Given the description of an element on the screen output the (x, y) to click on. 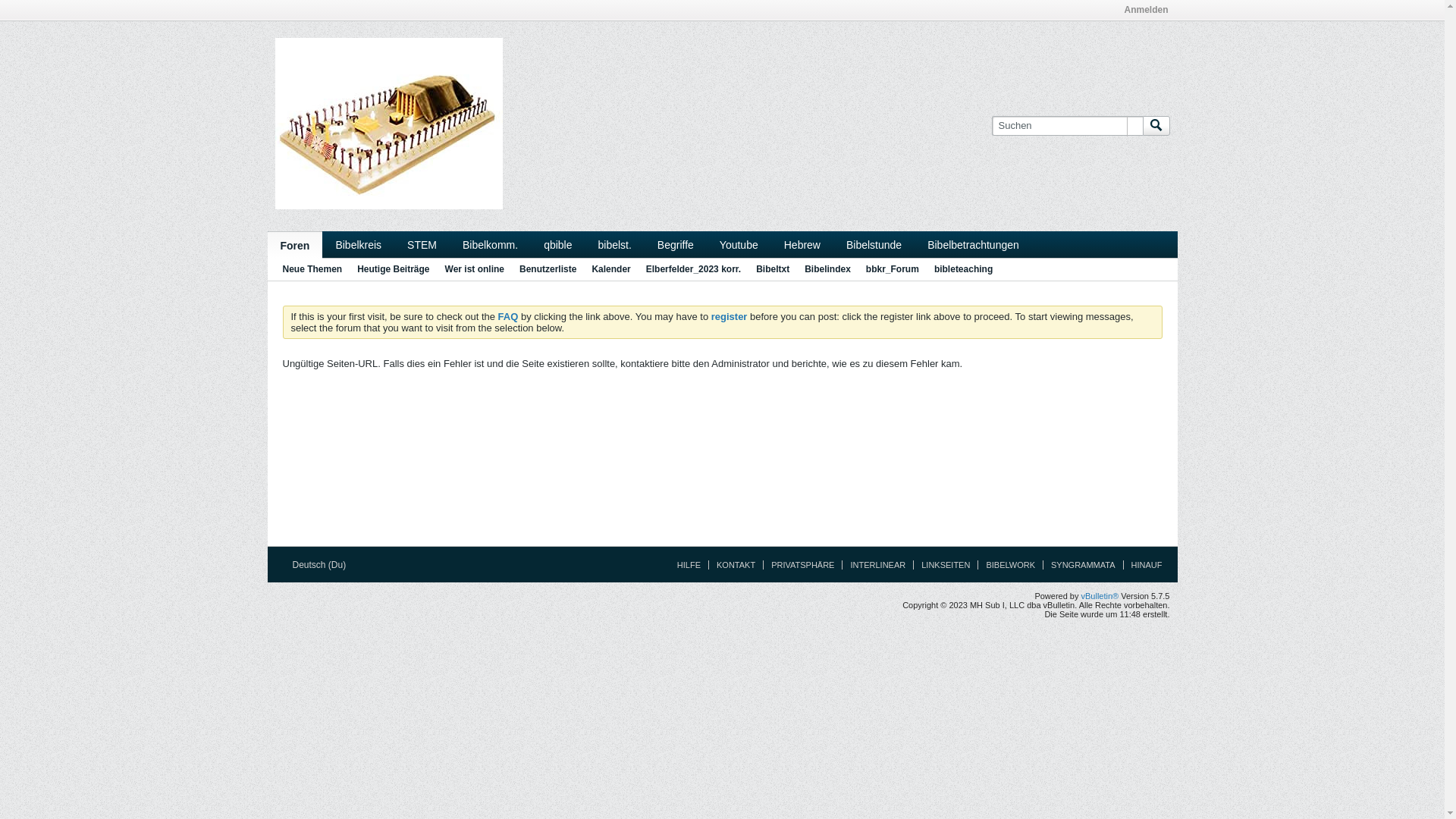
HILFE Element type: text (684, 564)
Powered by vBulletin Element type: hover (388, 123)
Bibelkomm. Element type: text (489, 244)
STEM Element type: text (421, 244)
register Element type: text (729, 316)
Begriffe Element type: text (675, 244)
Bibeltxt Element type: text (772, 269)
Wer ist online Element type: text (474, 269)
bibleteaching Element type: text (963, 269)
Foren Element type: text (294, 244)
Bibelindex Element type: text (827, 269)
Bibelbetrachtungen Element type: text (973, 244)
bibelst. Element type: text (614, 244)
Hebrew Element type: text (802, 244)
SYNGRAMMATA Element type: text (1078, 564)
Neue Themen Element type: text (312, 269)
Bibelkreis Element type: text (358, 244)
bbkr_Forum Element type: text (892, 269)
qbible Element type: text (557, 244)
INTERLINEAR Element type: text (873, 564)
Benutzerliste Element type: text (547, 269)
Bibelstunde Element type: text (873, 244)
HINAUF Element type: text (1142, 564)
LINKSEITEN Element type: text (941, 564)
Elberfelder_2023 korr. Element type: text (693, 269)
FAQ Element type: text (508, 316)
Kalender Element type: text (610, 269)
KONTAKT Element type: text (731, 564)
BIBELWORK Element type: text (1006, 564)
Suchen Element type: hover (1155, 125)
Youtube Element type: text (738, 244)
